Given the description of an element on the screen output the (x, y) to click on. 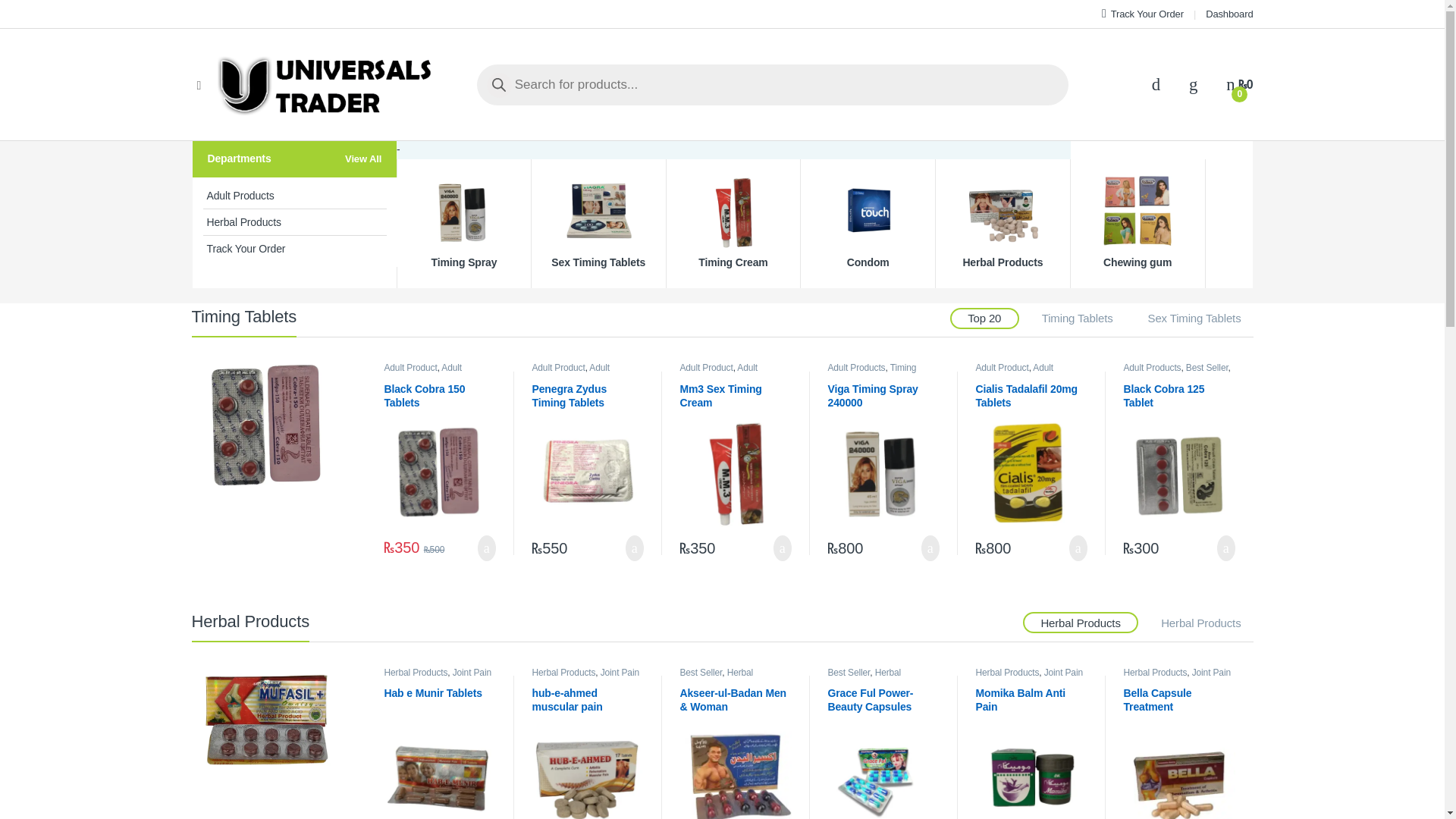
Dashboard (1228, 13)
Track Your Order (295, 248)
Track Your Order (1142, 13)
Chewing gum (1136, 223)
Condom (867, 223)
Dashboard (1228, 13)
Adult Products (295, 195)
Timing Spray (464, 223)
Adult Products (422, 372)
Best Seller (444, 377)
Minimum qty is 2 (486, 548)
Adult Products (295, 195)
Herbal Products (295, 222)
Herbal Products (295, 222)
Sex Timing Tablets (1194, 318)
